Given the description of an element on the screen output the (x, y) to click on. 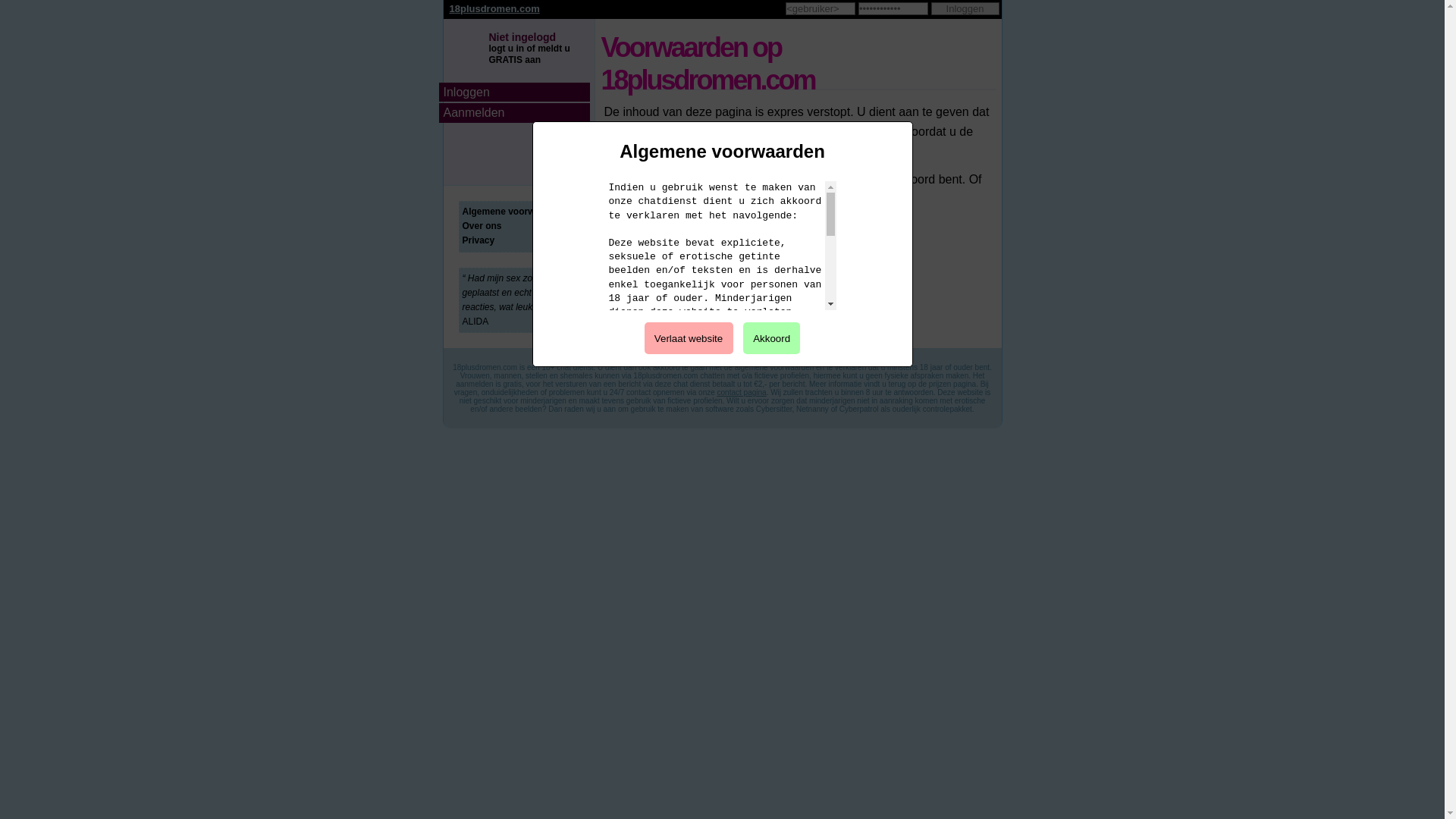
Akkoord Element type: text (771, 338)
Aanmelden Element type: text (513, 112)
18plusdromen.com Element type: text (493, 8)
contact pagina Element type: text (741, 392)
Inloggen Element type: text (513, 92)
Algemene voorwaarden Element type: text (513, 211)
Verlaat website Element type: text (688, 338)
Privacy Element type: text (478, 240)
Inloggen Element type: text (965, 8)
Over ons Element type: text (482, 225)
